Given the description of an element on the screen output the (x, y) to click on. 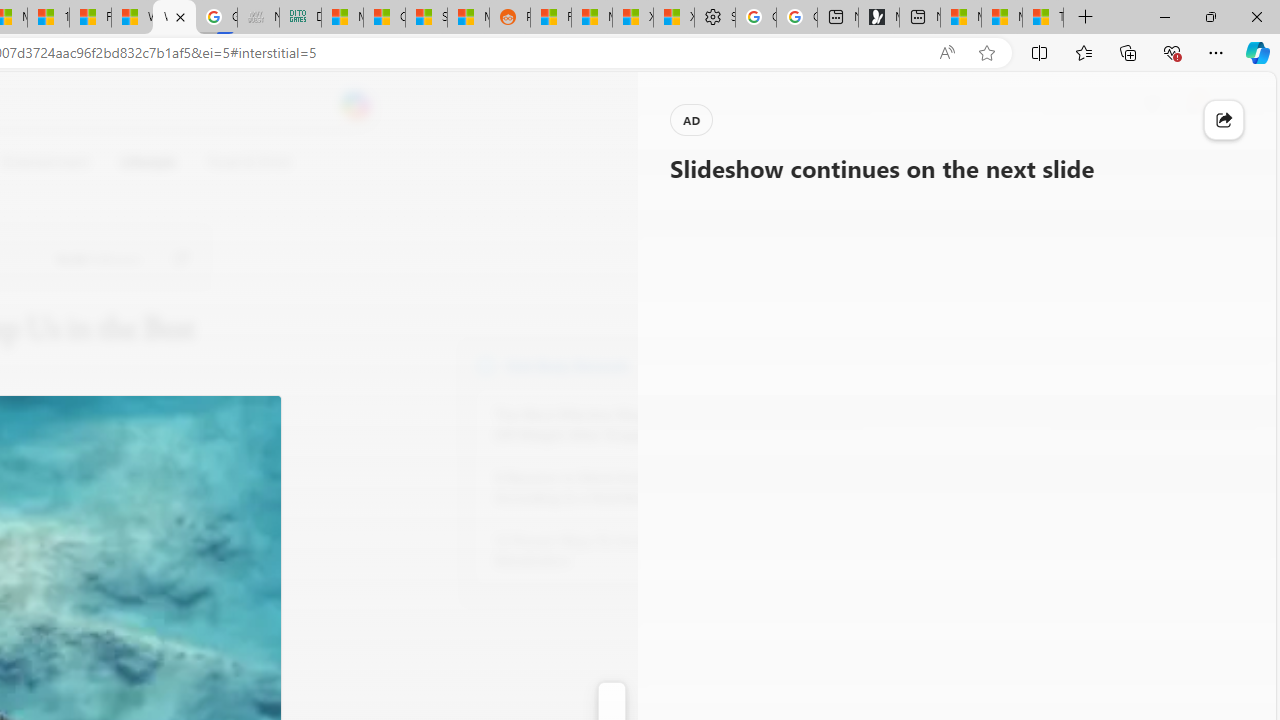
Go to publisher's site (180, 258)
Visit Body Network website (733, 364)
